Given the description of an element on the screen output the (x, y) to click on. 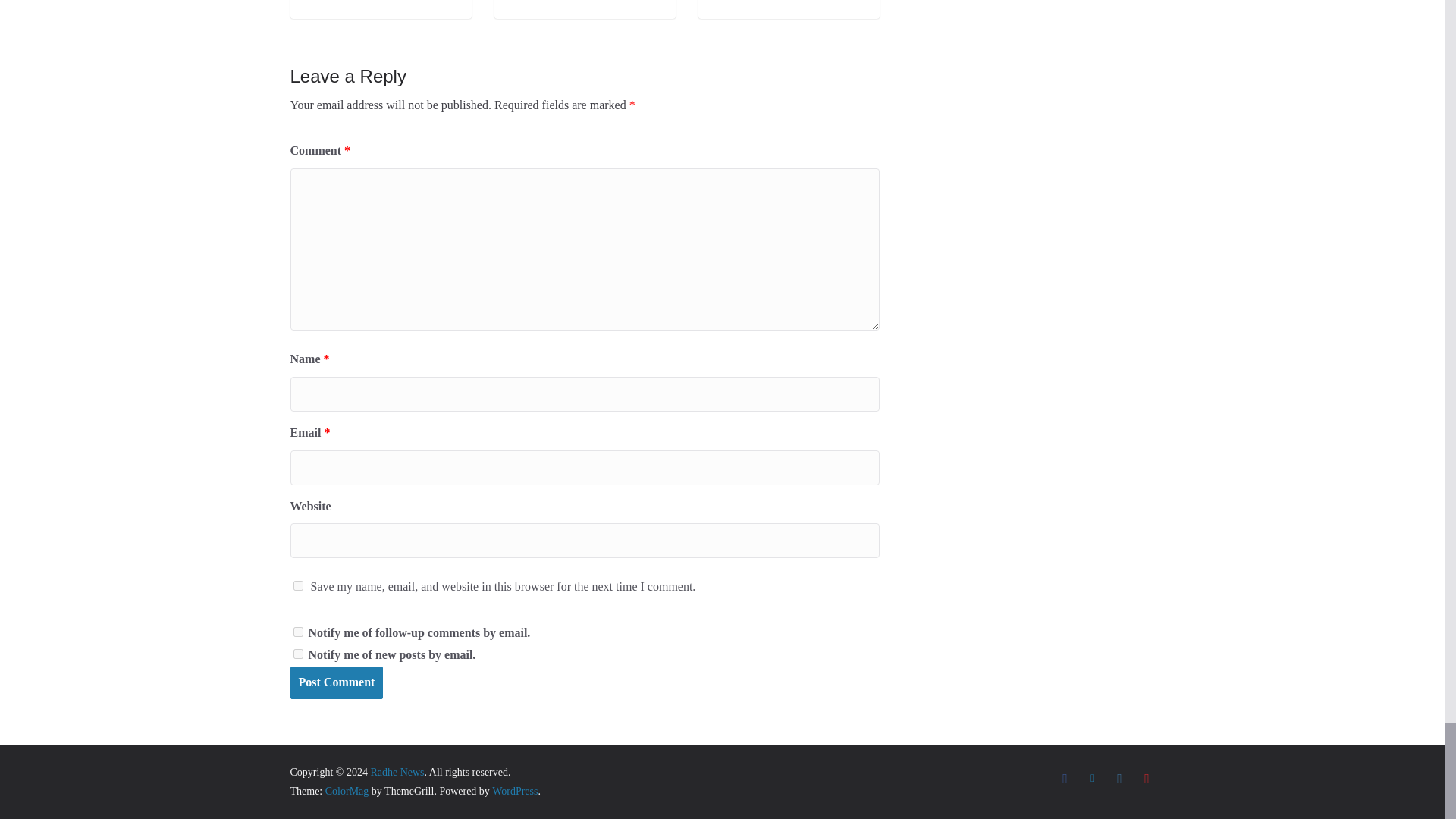
subscribe (297, 632)
Post Comment (335, 682)
subscribe (297, 654)
yes (297, 585)
